Given the description of an element on the screen output the (x, y) to click on. 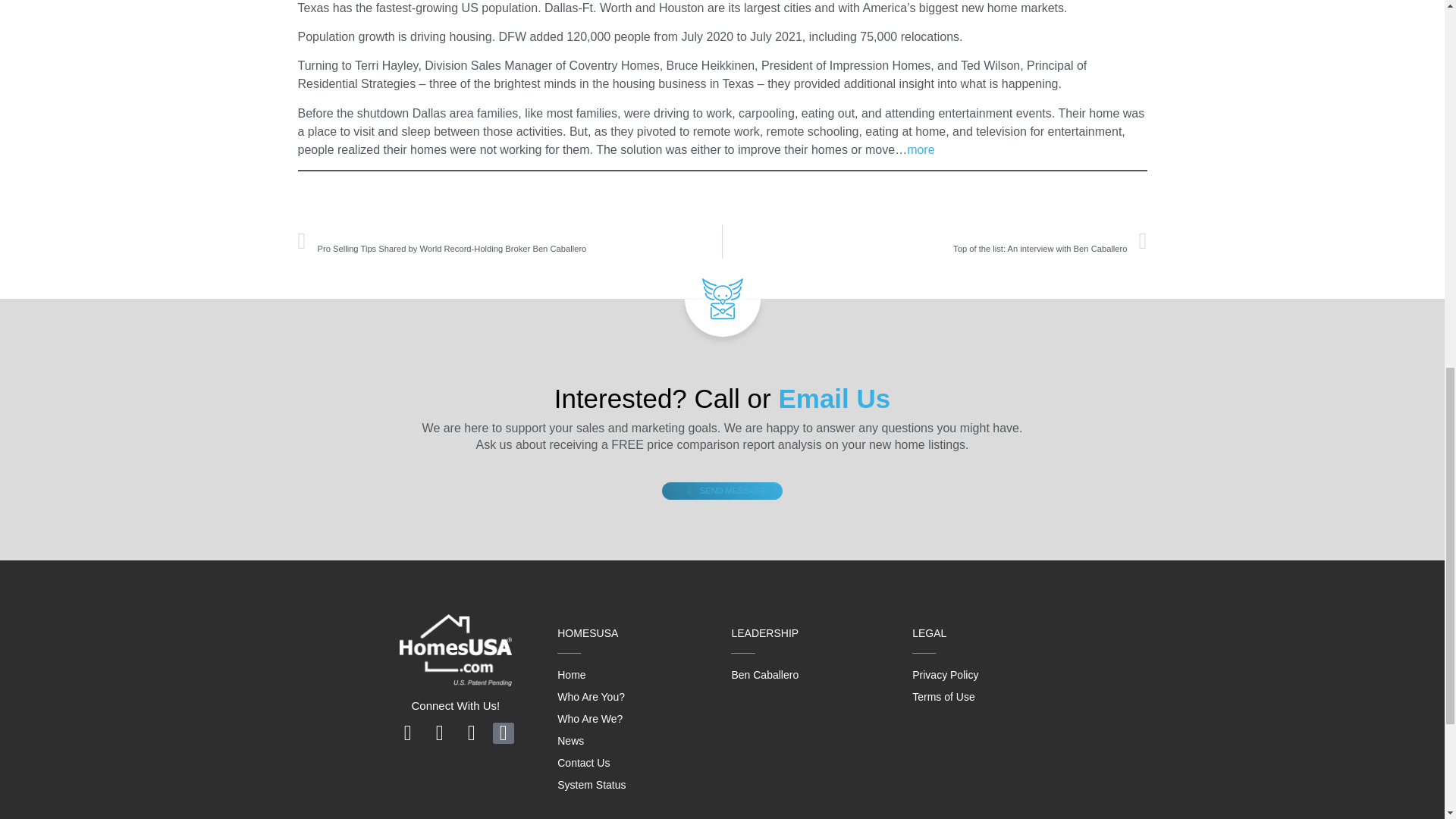
SEND MESSAGE (722, 490)
Terms of Use (934, 241)
System Status (943, 696)
more (591, 784)
Contact Us (920, 149)
Who Are You? (583, 762)
Home (590, 696)
News (571, 674)
Who Are We? (570, 740)
Ben Caballero (590, 718)
Privacy Policy (763, 674)
